Given the description of an element on the screen output the (x, y) to click on. 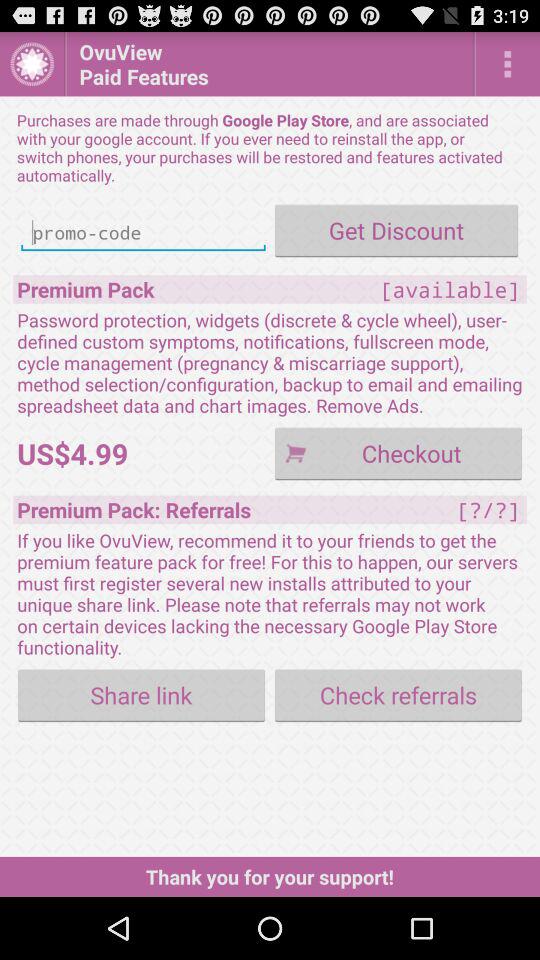
promo code entry (143, 232)
